Given the description of an element on the screen output the (x, y) to click on. 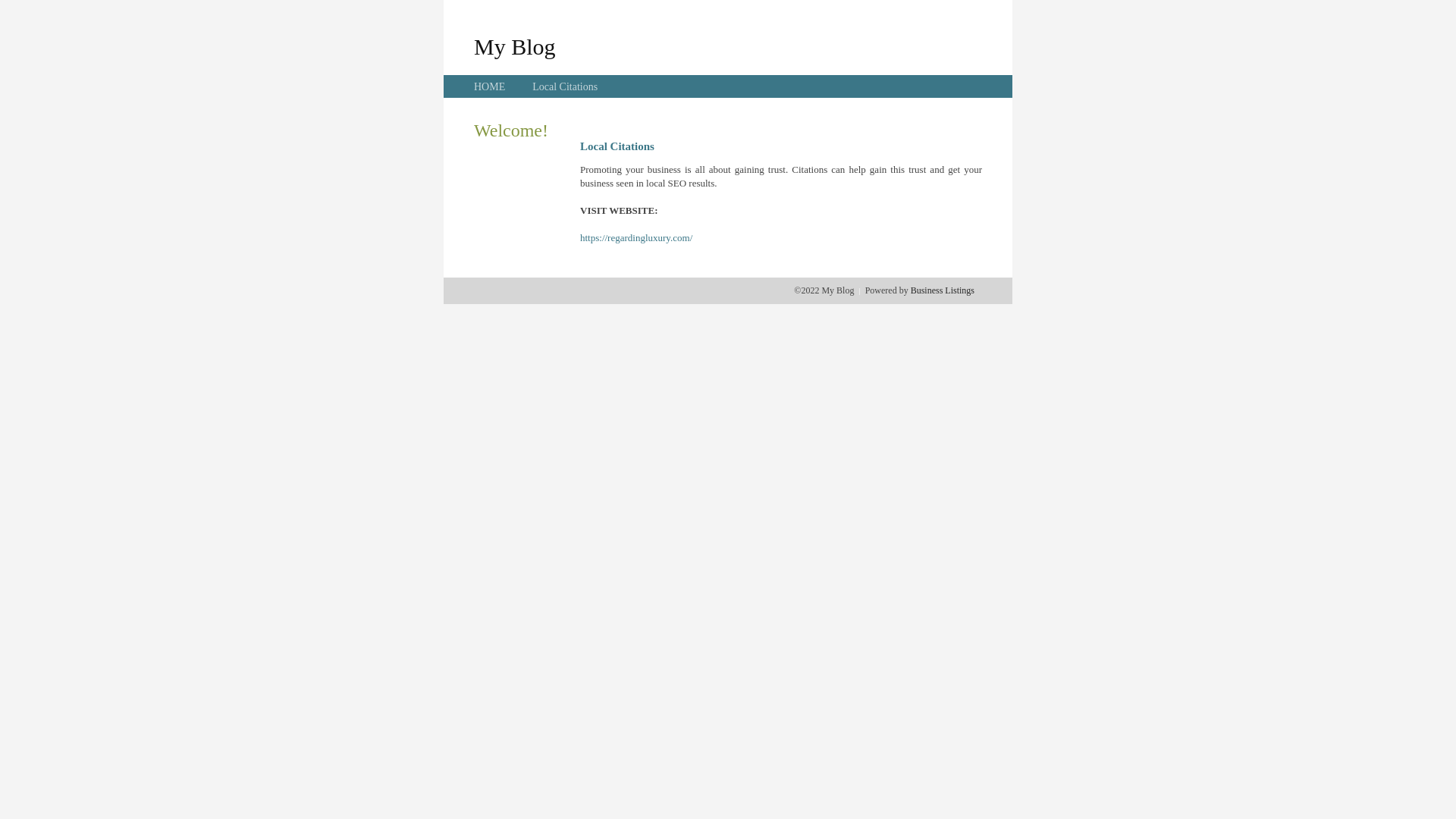
https://regardingluxury.com/ Element type: text (636, 237)
Local Citations Element type: text (564, 86)
HOME Element type: text (489, 86)
Business Listings Element type: text (942, 290)
My Blog Element type: text (514, 46)
